Given the description of an element on the screen output the (x, y) to click on. 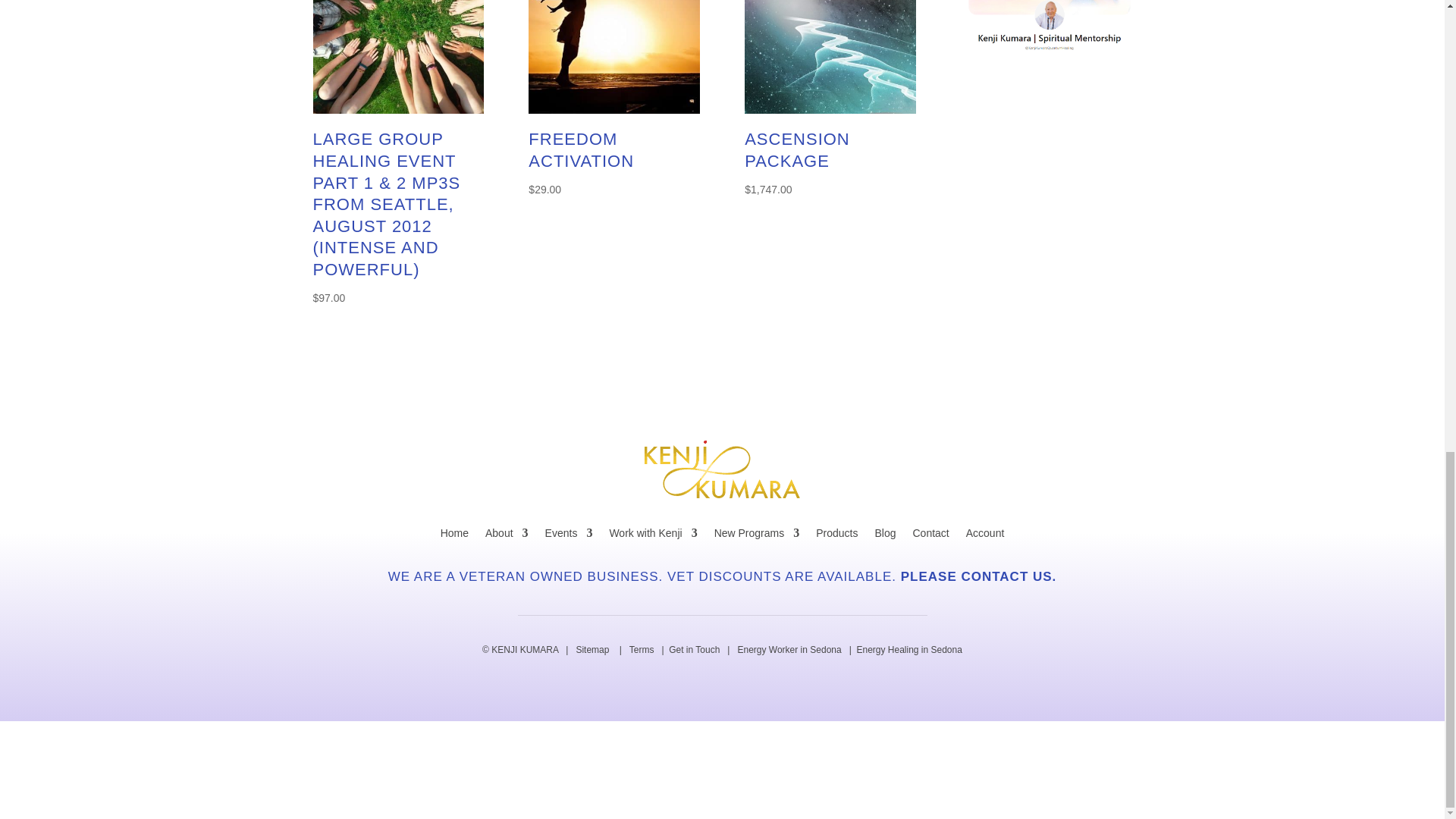
Energy Worker in Sedona (788, 649)
Energy Healing in Sedona (908, 649)
Terms (640, 649)
Get in touch (693, 649)
kenji-kumara-newlogo2 (722, 469)
